Given the description of an element on the screen output the (x, y) to click on. 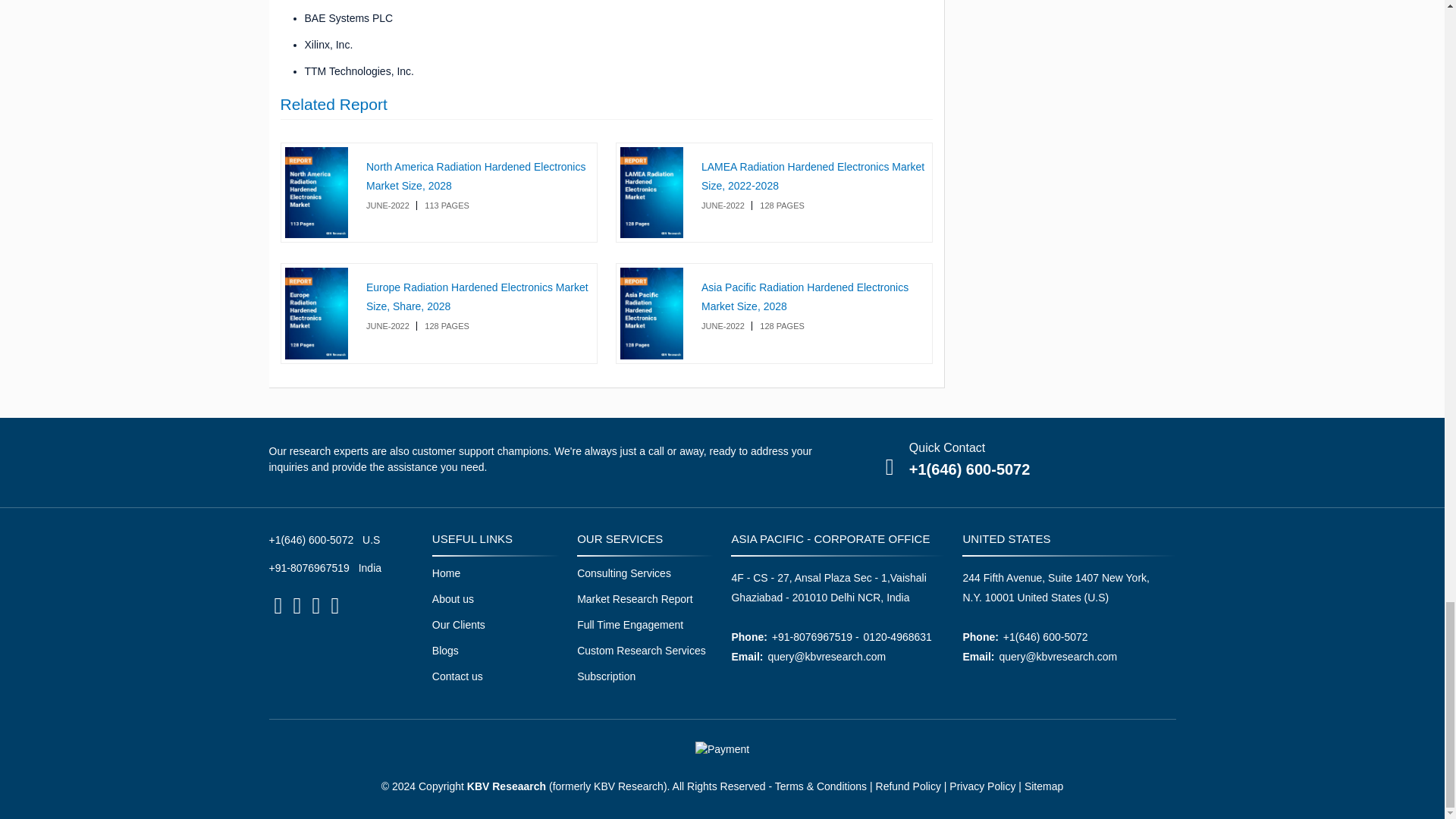
Europe Radiation Hardened Electronics Market (477, 296)
Asia Pacific Radiation Hardened Electronics Market (804, 296)
Consulting Services (623, 573)
Contact us (457, 675)
About us (453, 598)
LAMEA Radiation Hardened Electronics Market (812, 175)
Home (446, 573)
Blogs (445, 650)
Market Research Report (634, 598)
Our Clients (458, 624)
North America Radiation Hardened Electronics Market (475, 175)
